Given the description of an element on the screen output the (x, y) to click on. 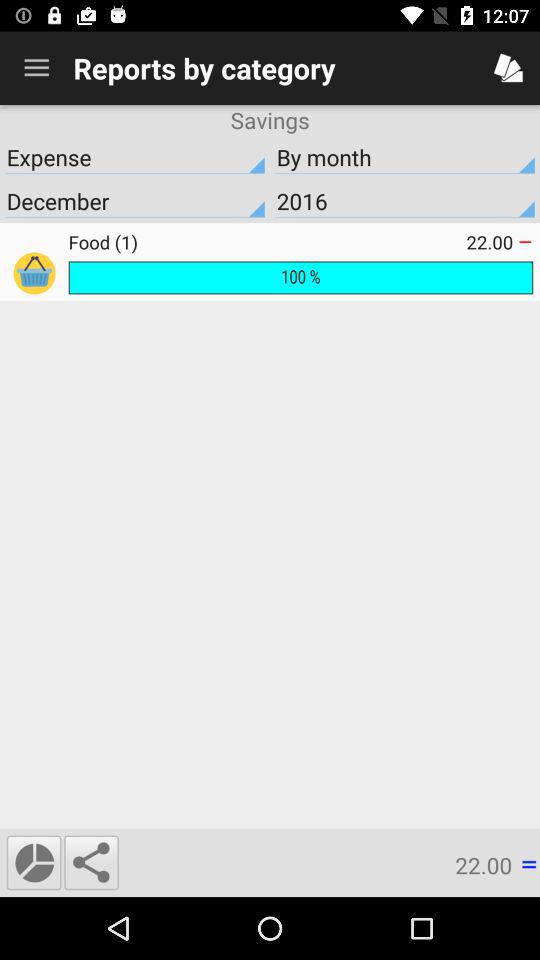
turn off item below expense (135, 201)
